Given the description of an element on the screen output the (x, y) to click on. 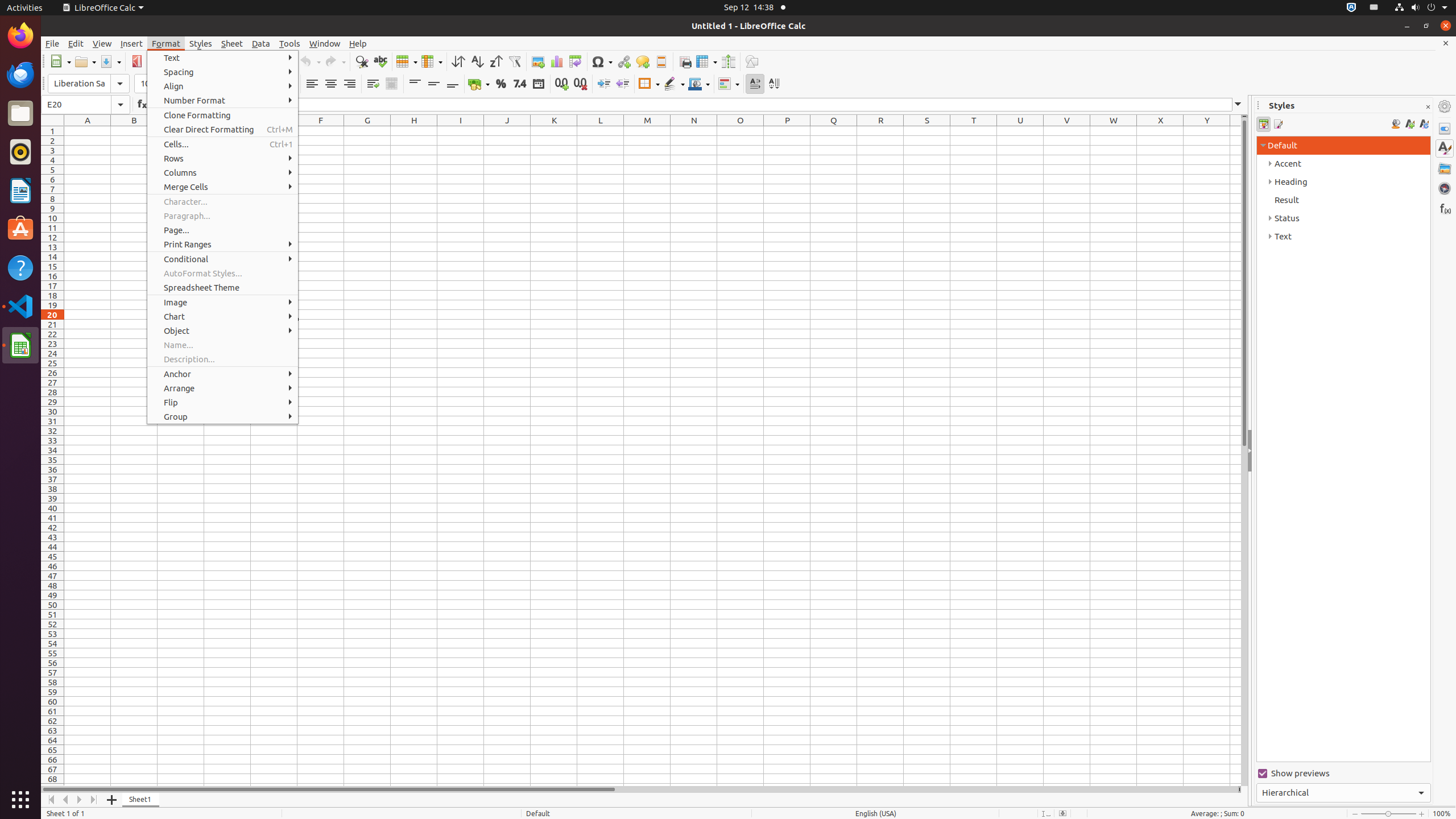
Move Left Element type: push-button (65, 799)
Redo Element type: push-button (334, 61)
Format Element type: menu (165, 43)
Align Top Element type: push-button (414, 83)
Text direction from top to bottom Element type: toggle-button (773, 83)
